Given the description of an element on the screen output the (x, y) to click on. 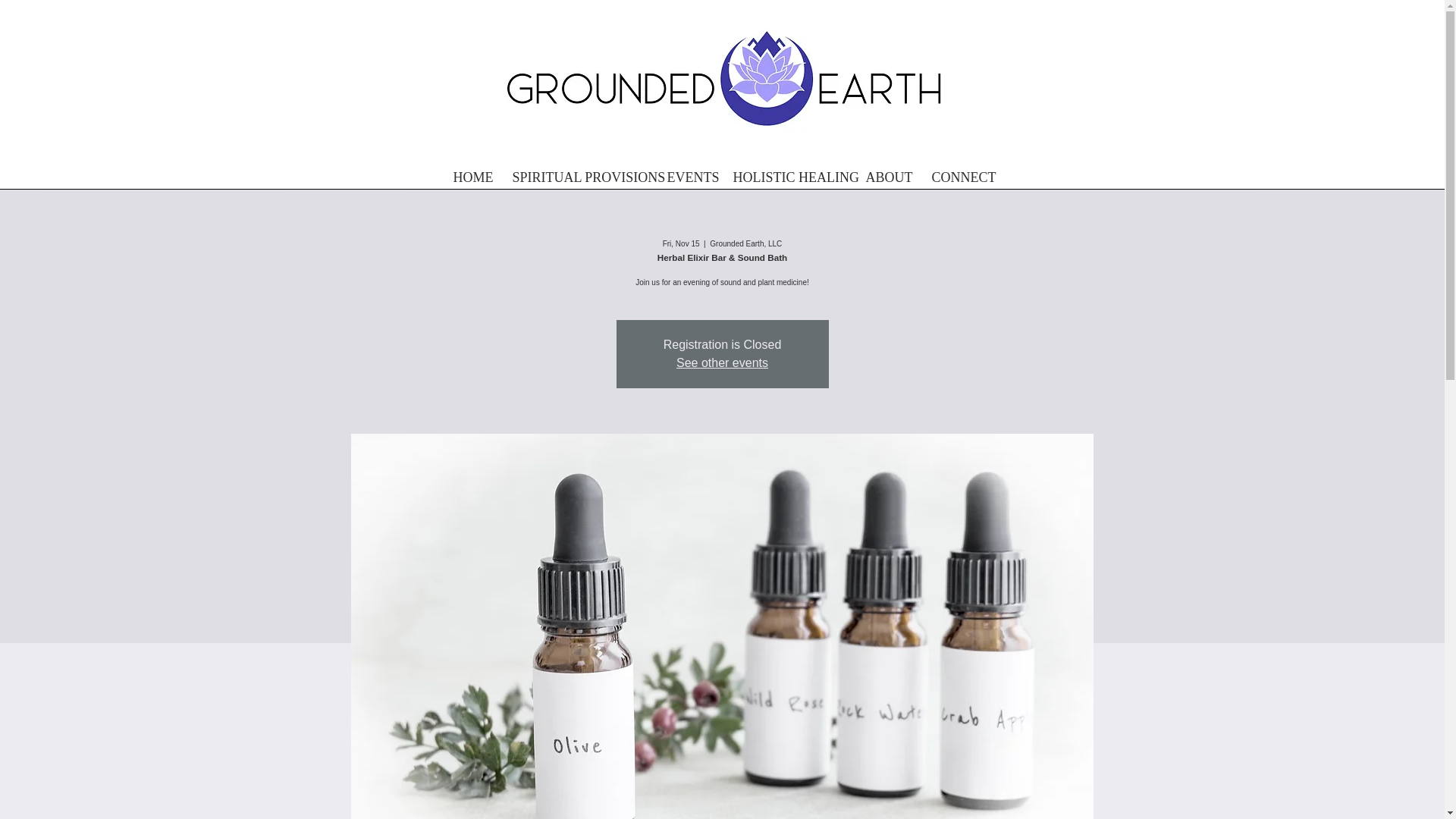
HOLISTIC HEALING (786, 177)
SPIRITUAL PROVISIONS (577, 177)
EVENTS (687, 177)
ABOUT (886, 177)
See other events (722, 362)
HOME (470, 177)
CONNECT (959, 177)
